Given the description of an element on the screen output the (x, y) to click on. 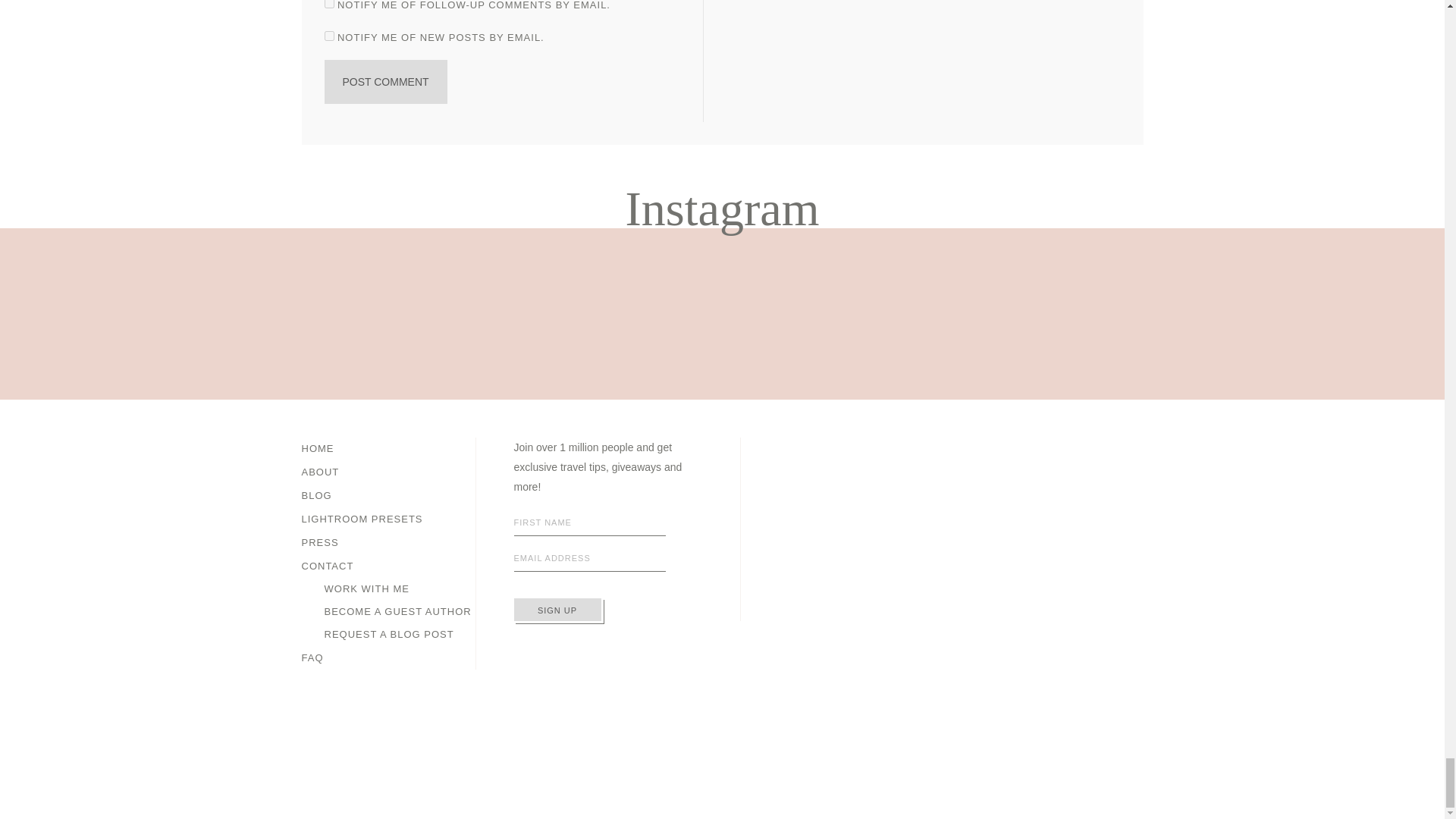
subscribe (329, 4)
LIGHTROOM PRESETS (362, 518)
subscribe (329, 35)
Post Comment (385, 81)
